Given the description of an element on the screen output the (x, y) to click on. 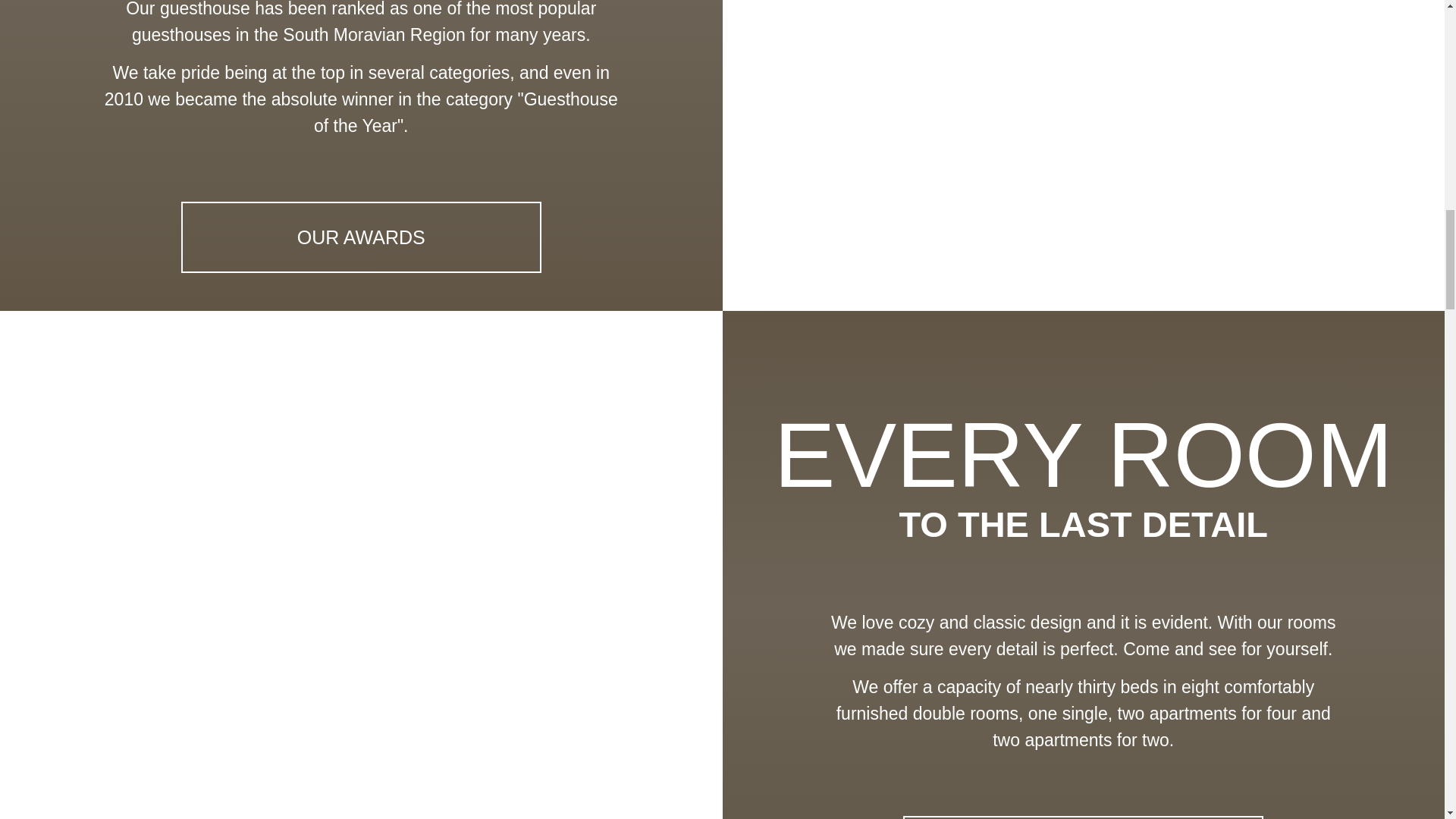
OUR AWARDS (360, 236)
